Given the description of an element on the screen output the (x, y) to click on. 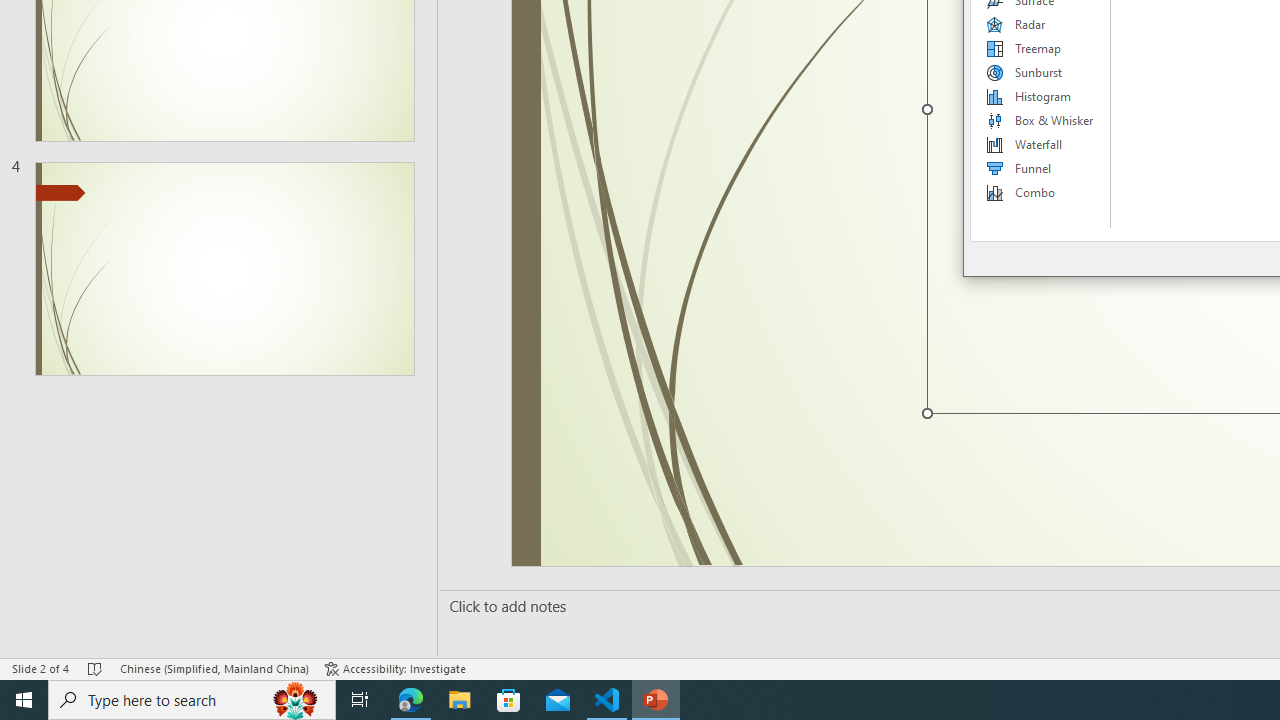
Histogram (1041, 96)
Waterfall (1041, 144)
